Given the description of an element on the screen output the (x, y) to click on. 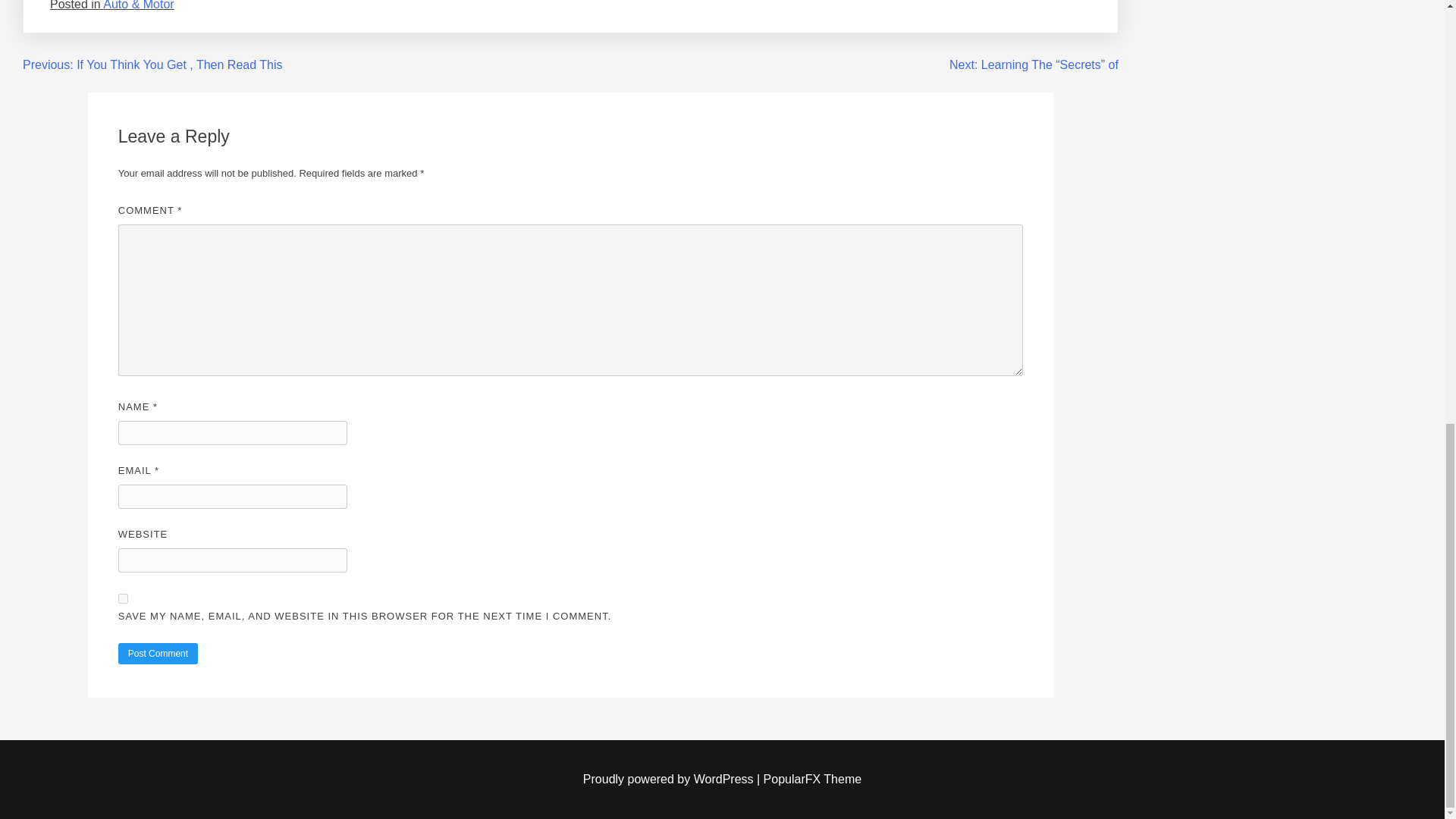
yes (122, 598)
Post Comment (157, 653)
PopularFX Theme (811, 779)
Post Comment (157, 653)
Proudly powered by WordPress (670, 779)
Previous: If You Think You Get , Then Read This (152, 64)
